Given the description of an element on the screen output the (x, y) to click on. 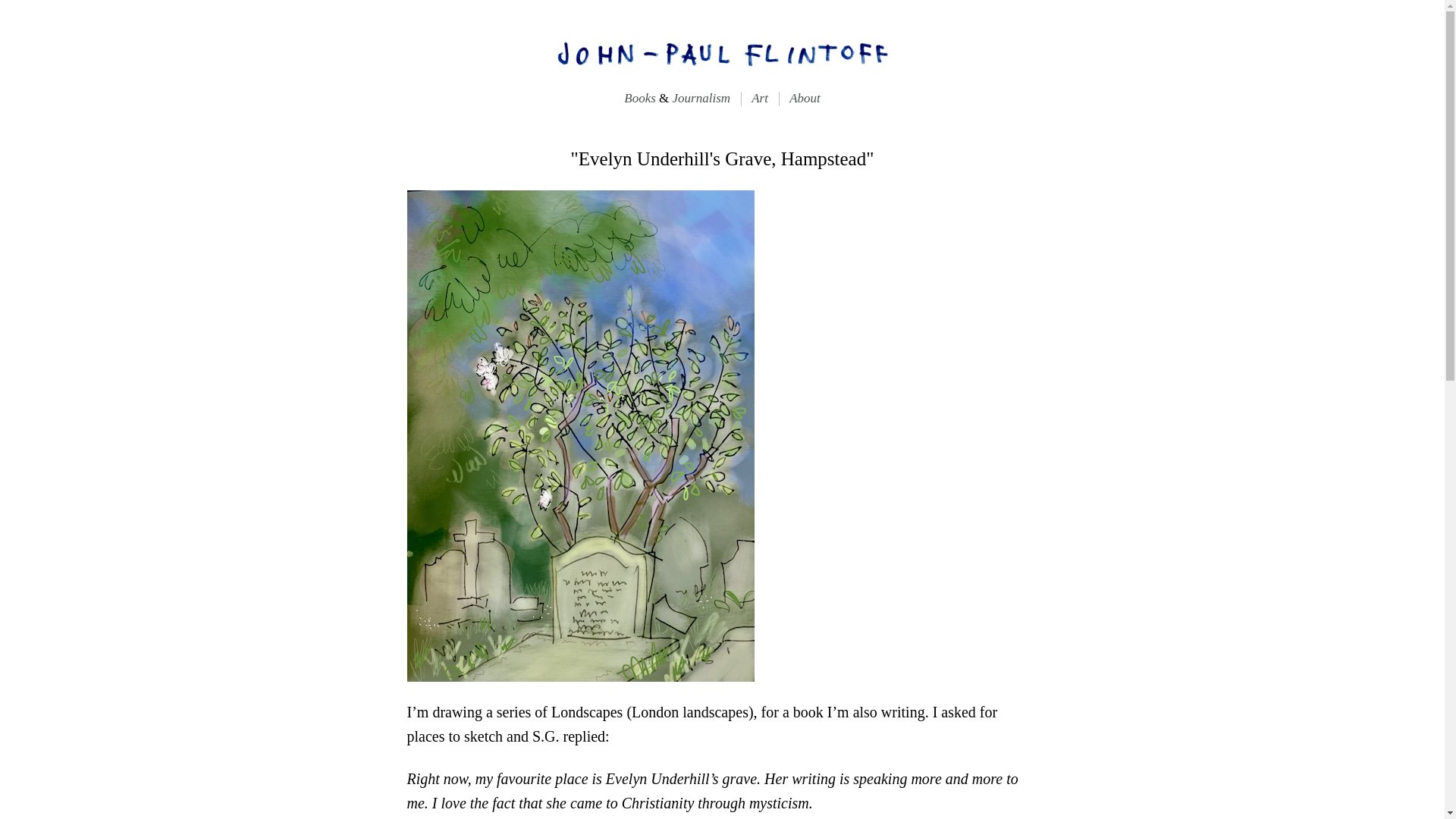
Journalism (706, 98)
John-Paul Flintoff (721, 52)
Books (635, 98)
My Books (635, 98)
About (804, 98)
Art (759, 98)
Journalism by me (706, 98)
About (804, 98)
Art (759, 98)
